Given the description of an element on the screen output the (x, y) to click on. 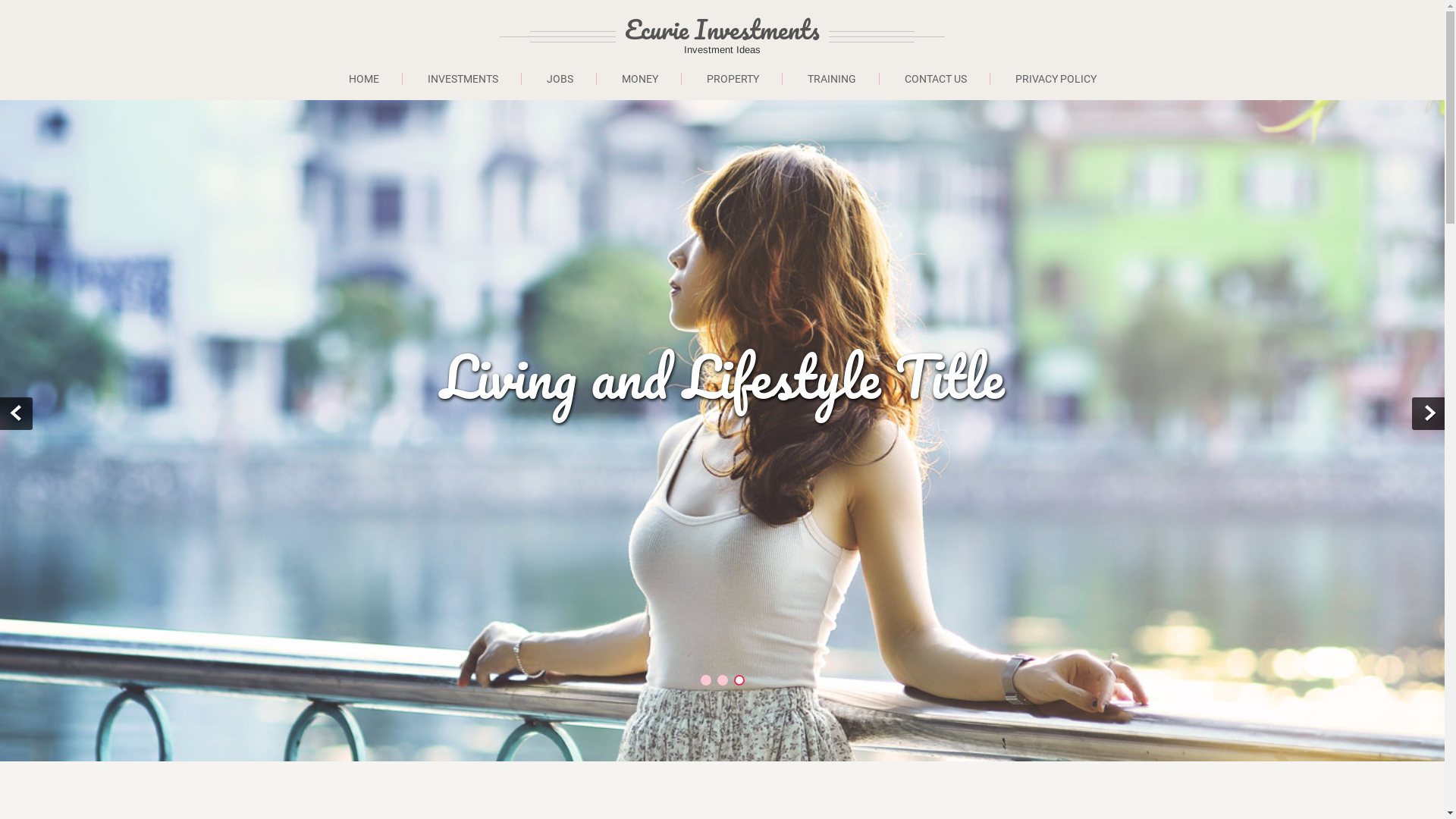
3 Element type: text (739, 679)
Prev Element type: text (16, 413)
2 Element type: text (722, 679)
PROPERTY Element type: text (733, 78)
Ecurie Investments
Investment Ideas Element type: text (784, 36)
INVESTMENTS Element type: text (462, 78)
MONEY Element type: text (640, 78)
JOBS Element type: text (559, 78)
PRIVACY POLICY Element type: text (1054, 78)
CONTACT US Element type: text (935, 78)
Next Element type: text (1428, 413)
TRAINING Element type: text (831, 78)
Living and Lifestyle Title Element type: text (722, 376)
1 Element type: text (705, 679)
HOME Element type: text (364, 78)
